Given the description of an element on the screen output the (x, y) to click on. 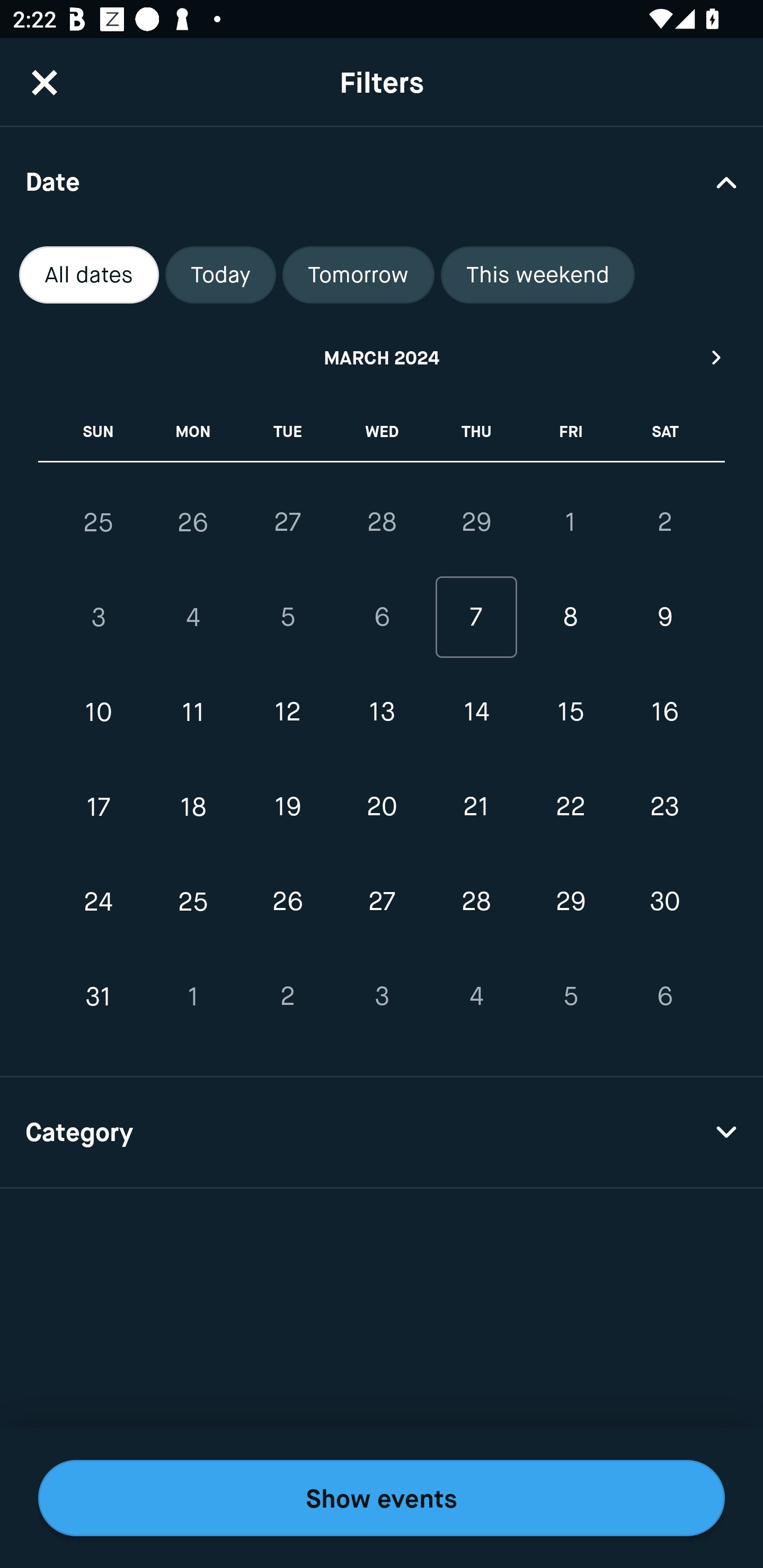
CloseButton (44, 82)
Date Drop Down Arrow (381, 181)
All dates (88, 274)
Today (220, 274)
Tomorrow (358, 274)
This weekend (537, 274)
Next (717, 357)
25 (98, 522)
26 (192, 522)
27 (287, 522)
28 (381, 522)
29 (475, 522)
1 (570, 522)
2 (664, 522)
3 (98, 617)
4 (192, 617)
5 (287, 617)
6 (381, 617)
7 (475, 617)
8 (570, 617)
9 (664, 617)
10 (98, 711)
11 (192, 711)
12 (287, 711)
13 (381, 711)
14 (475, 711)
15 (570, 711)
16 (664, 711)
17 (98, 806)
18 (192, 806)
19 (287, 806)
20 (381, 806)
21 (475, 806)
22 (570, 806)
23 (664, 806)
24 (98, 901)
25 (192, 901)
26 (287, 901)
27 (381, 901)
28 (475, 901)
29 (570, 901)
30 (664, 901)
31 (98, 996)
1 (192, 996)
2 (287, 996)
3 (381, 996)
4 (475, 996)
5 (570, 996)
6 (664, 996)
Category Drop Down Arrow (381, 1132)
Show events (381, 1497)
